Given the description of an element on the screen output the (x, y) to click on. 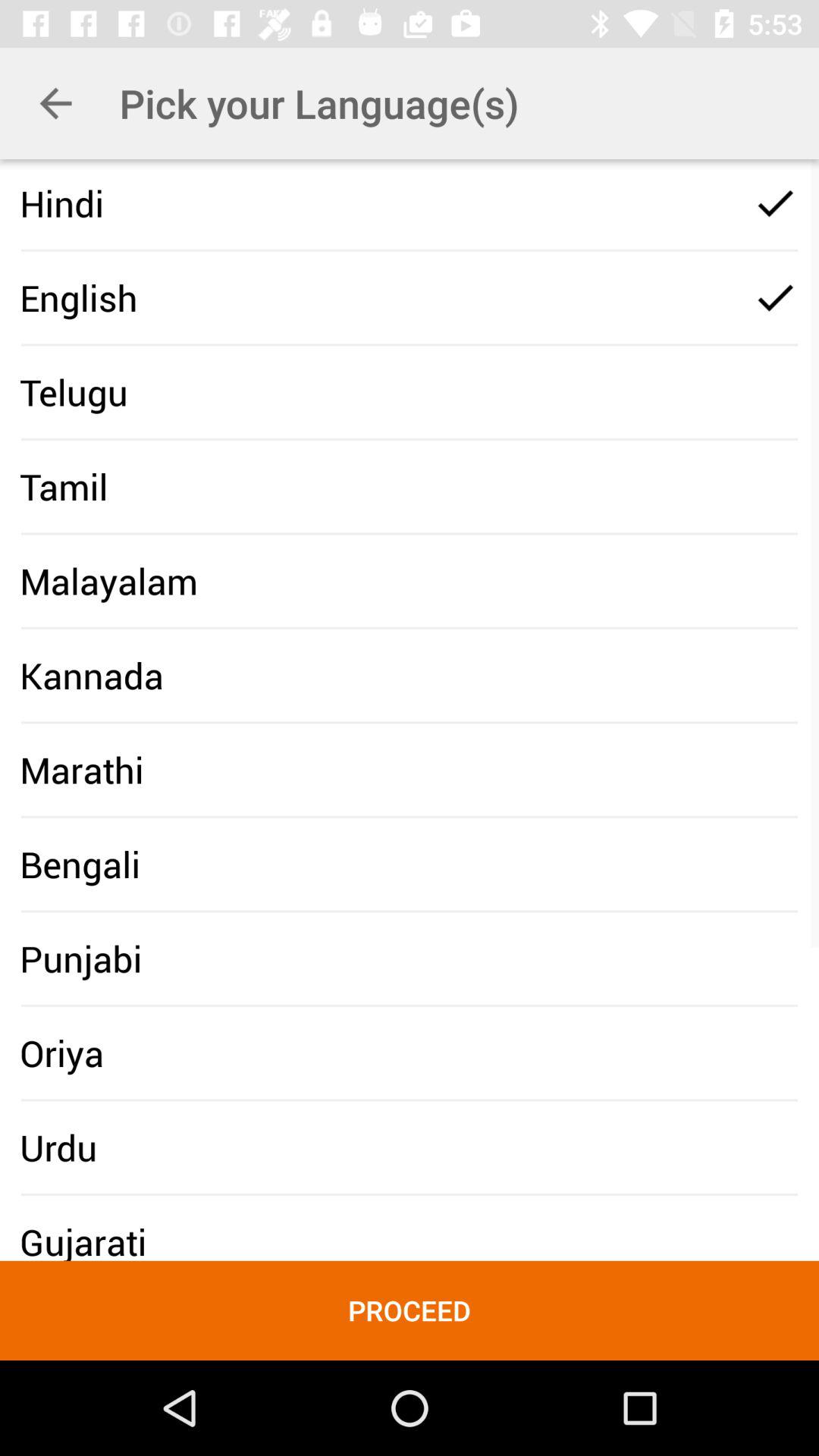
launch the item below bengali item (80, 958)
